Given the description of an element on the screen output the (x, y) to click on. 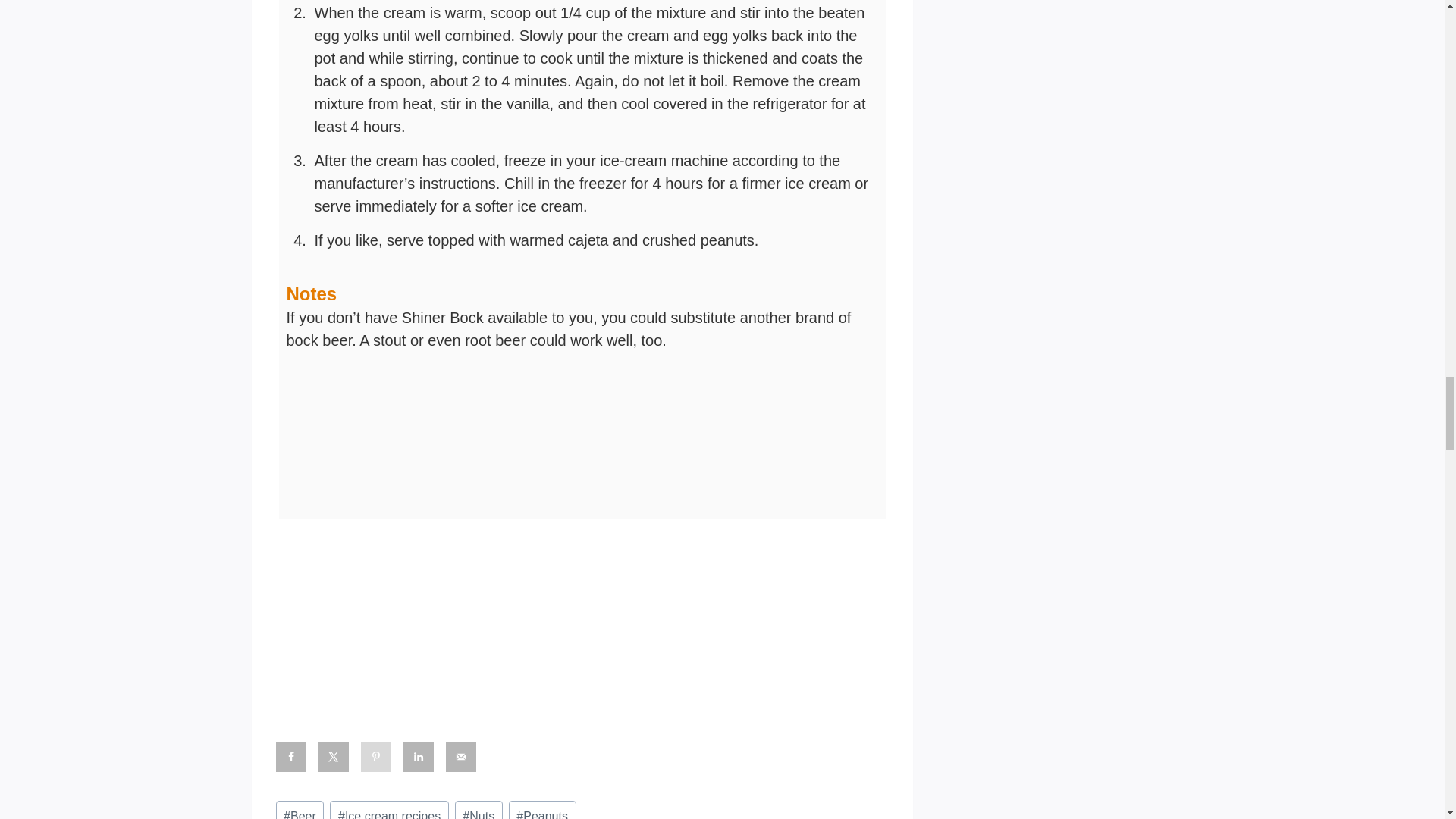
Save to Pinterest (376, 757)
Peanuts (542, 809)
Share on Facebook (290, 757)
Share on X (333, 757)
Send over email (460, 757)
Nuts (478, 809)
Ice cream recipes (389, 809)
Beer (300, 809)
Share on LinkedIn (418, 757)
